Given the description of an element on the screen output the (x, y) to click on. 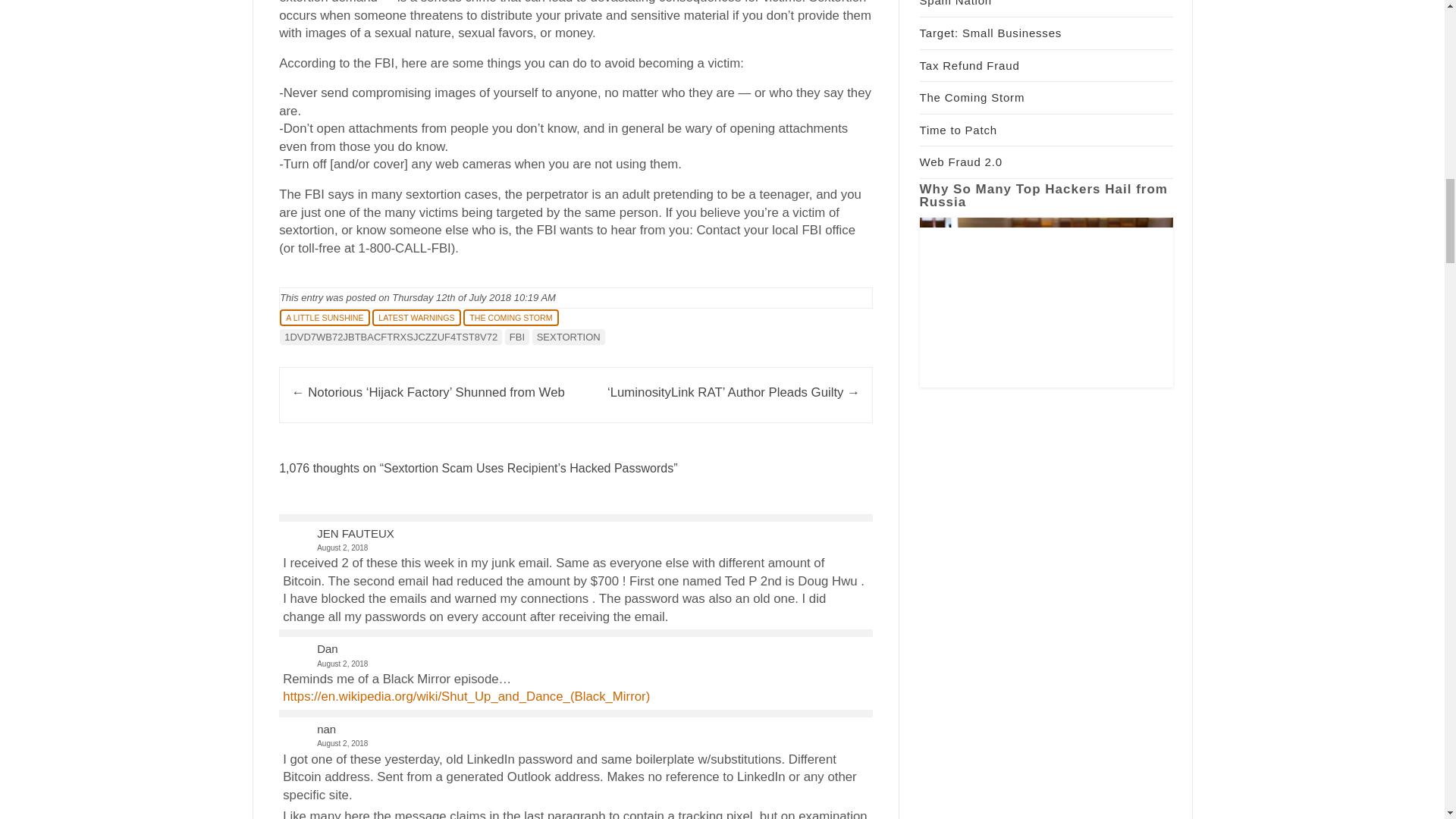
August 2, 2018 (574, 743)
August 2, 2018 (574, 663)
1DVD7WB72JBTBACFTRXSJCZZUF4TST8V72 (390, 336)
THE COMING STORM (510, 317)
August 2, 2018 (574, 547)
FBI (517, 336)
SEXTORTION (568, 336)
LATEST WARNINGS (416, 317)
A LITTLE SUNSHINE (324, 317)
